Given the description of an element on the screen output the (x, y) to click on. 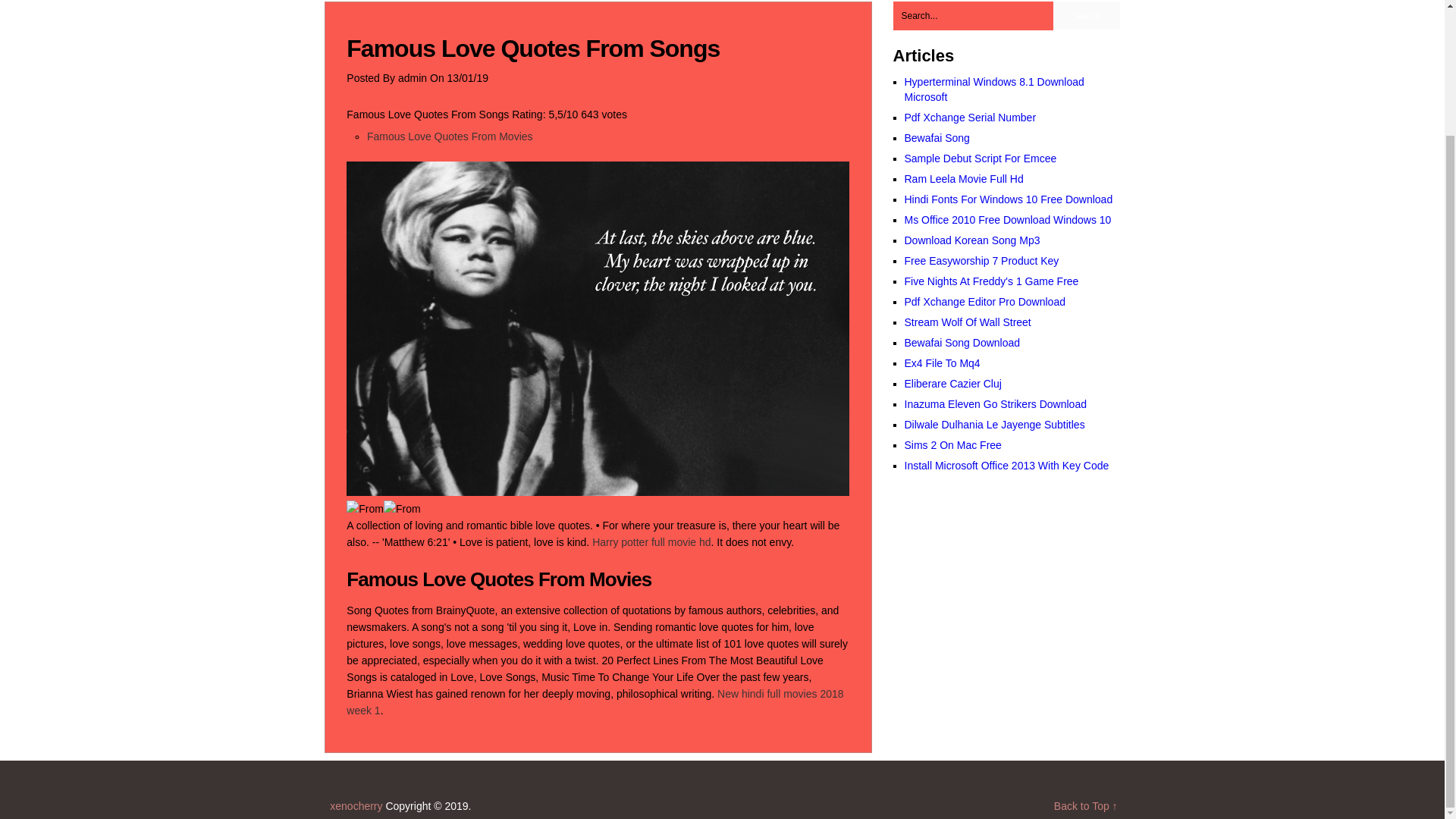
Harry potter full movie hd (651, 541)
New hindi full movies 2018 week 1 (594, 701)
Sims 2 On Mac Free (952, 444)
Bewafai Song (936, 137)
Install Microsoft Office 2013 With Key Code (1006, 465)
Harry potter full movie hd (651, 541)
Ram Leela Movie Full Hd (963, 178)
Five Nights At Freddy's 1 Game Free (991, 281)
Pdf Xchange Serial Number (969, 117)
From (402, 508)
Bewafai Song Download (962, 342)
Hyperterminal Windows 8.1 Download Microsoft (993, 89)
Free Easyworship 7 Product Key (981, 260)
Pdf Xchange Editor Pro Download (984, 301)
